Given the description of an element on the screen output the (x, y) to click on. 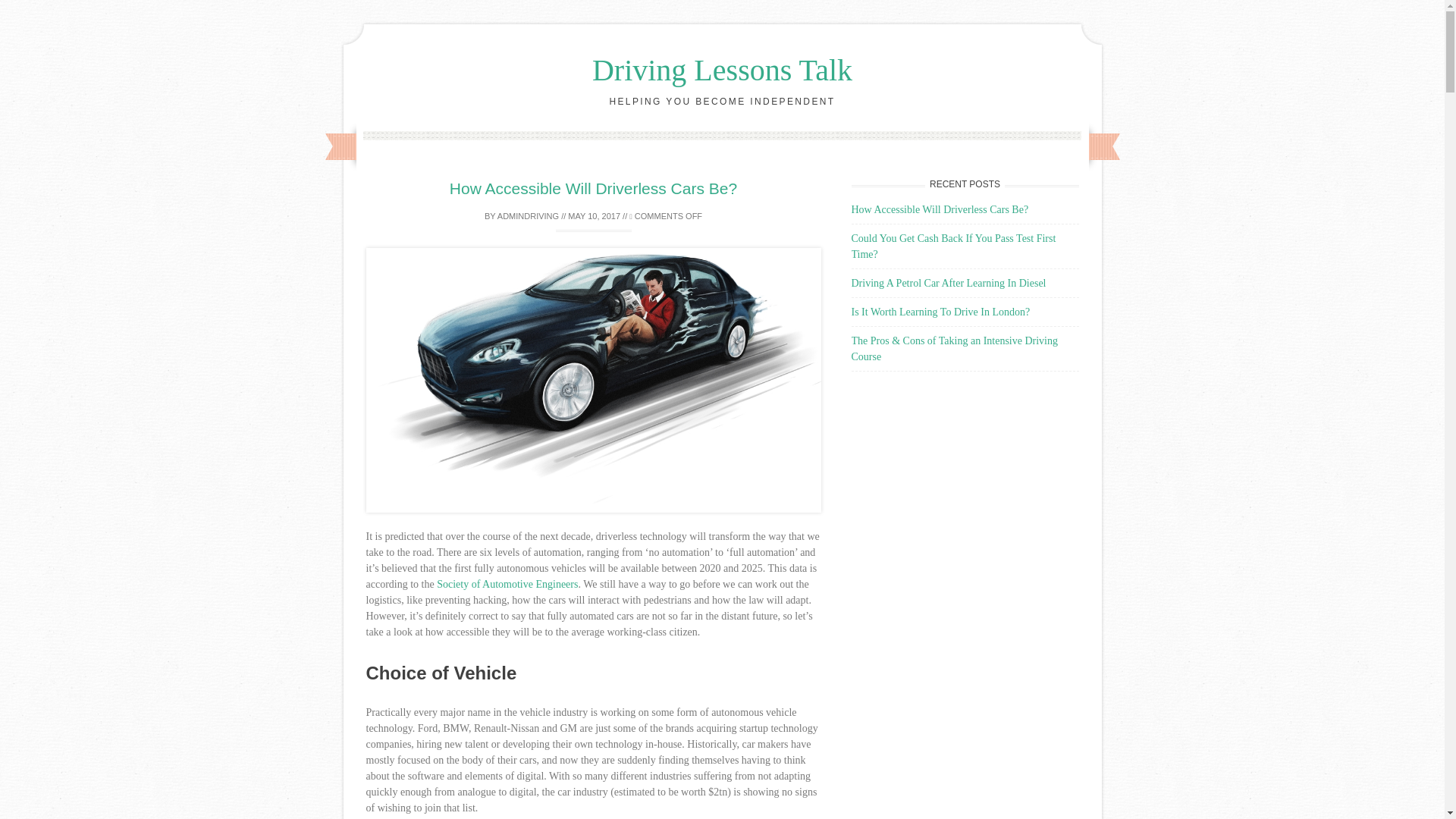
ADMINDRIVING (528, 215)
Skip to content (754, 139)
How Accessible Will Driverless Cars Be? (592, 188)
Driving Lessons Talk (721, 69)
View all posts by admindriving (528, 215)
MAY 10, 2017 (593, 215)
Society of Automotive Engineers (507, 583)
COMMENTS OFF (664, 215)
12:54 pm (593, 215)
